Given the description of an element on the screen output the (x, y) to click on. 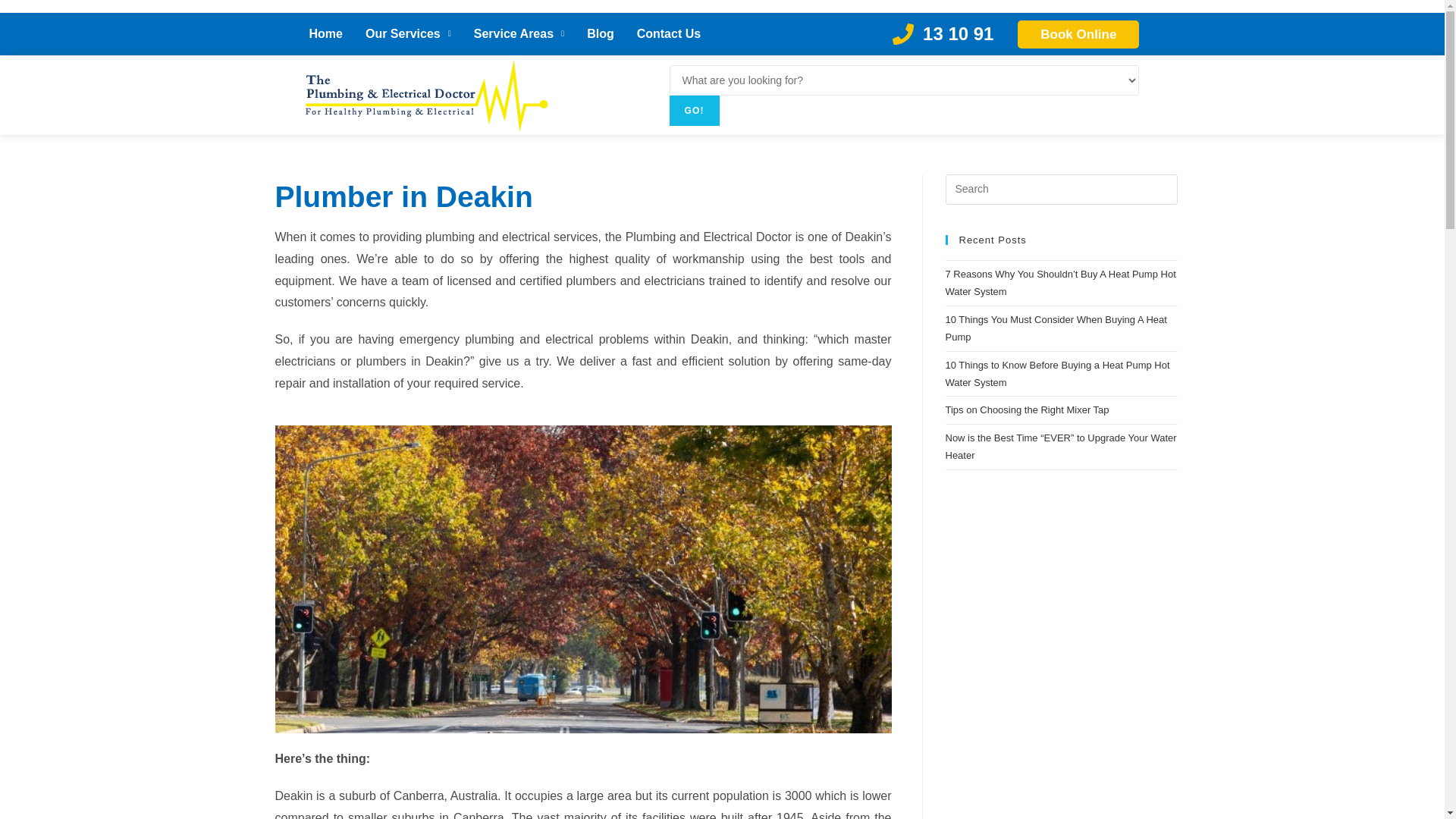
Our Services (408, 33)
Home (325, 33)
Service Areas (519, 33)
